Given the description of an element on the screen output the (x, y) to click on. 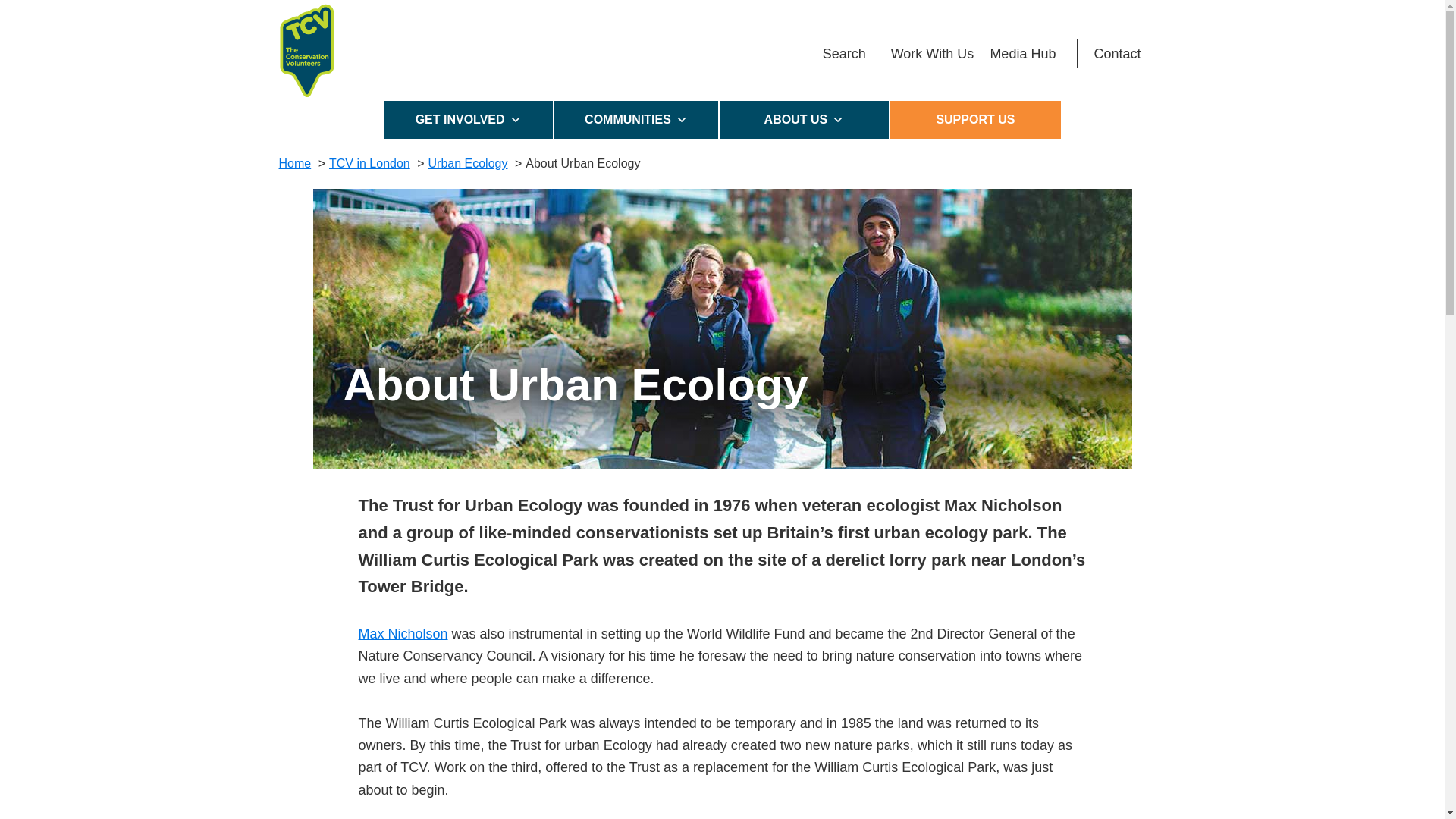
COMMUNITIES (636, 119)
Media Hub (1021, 53)
ABOUT US (804, 119)
GET INVOLVED (469, 119)
Search (843, 53)
Work With Us (932, 53)
Website about Max Nicholson (402, 633)
Contact (1117, 53)
